Given the description of an element on the screen output the (x, y) to click on. 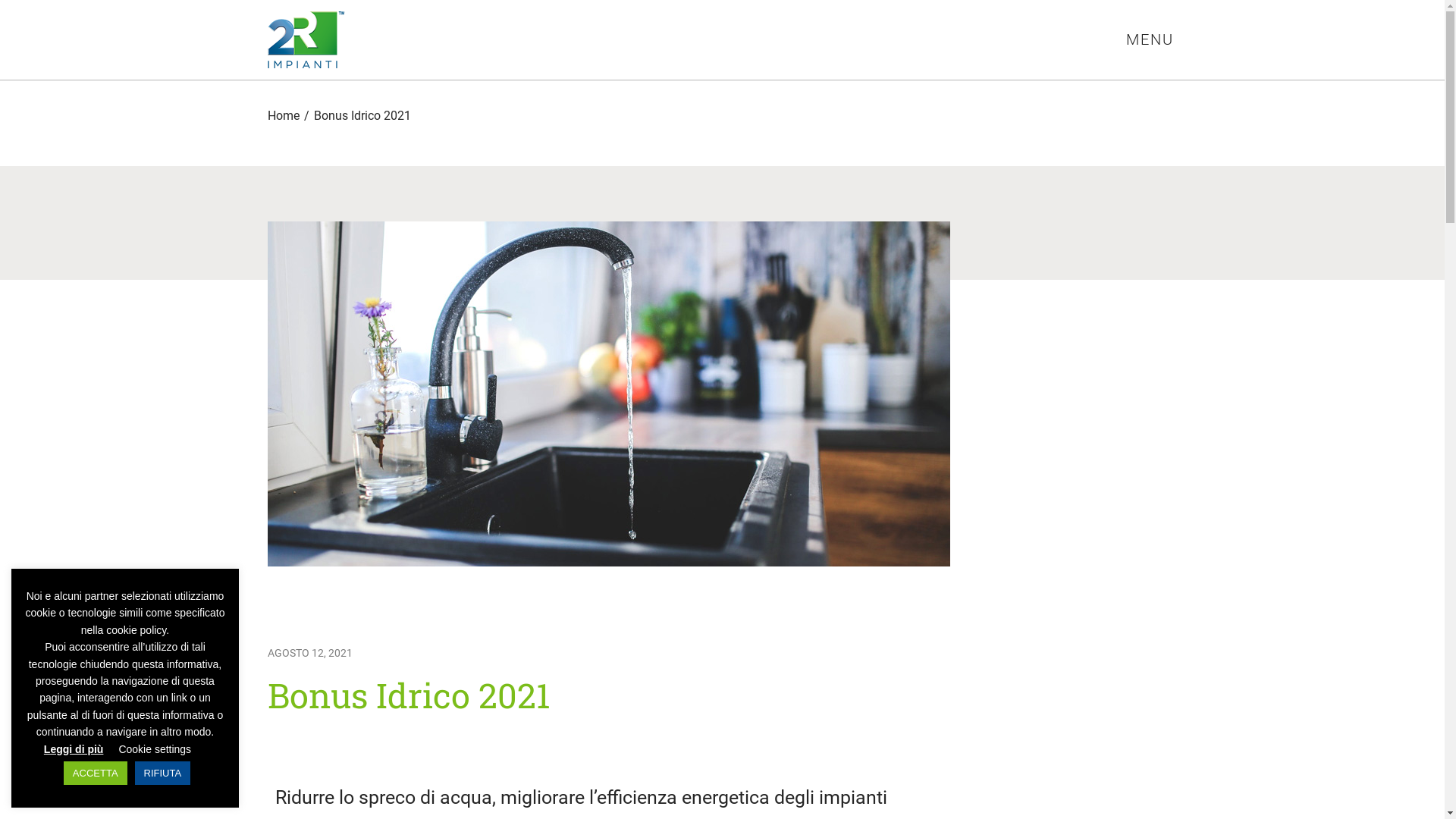
Home Element type: text (282, 115)
Bonus Idrico 2021 Element type: text (362, 115)
RIFIUTA Element type: text (162, 772)
AGOSTO 12, 2021 Element type: text (308, 652)
Cookie settings Element type: text (154, 749)
MENU Element type: text (1149, 38)
ACCETTA Element type: text (95, 772)
